Given the description of an element on the screen output the (x, y) to click on. 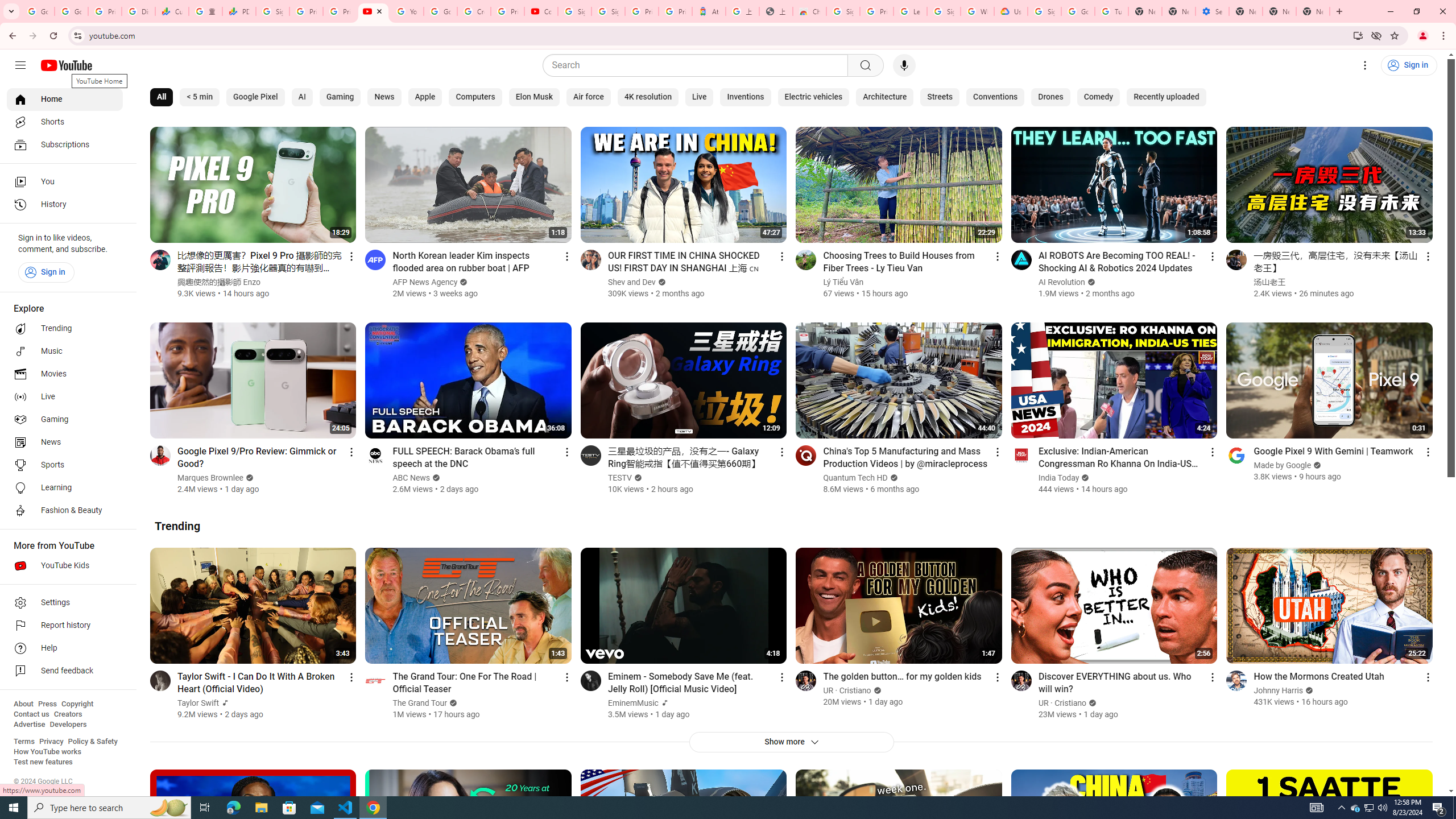
Turn cookies on or off - Computer - Google Account Help (1111, 11)
Atour Hotel - Google hotels (708, 11)
Gaming (64, 419)
Learning (64, 487)
Currencies - Google Finance (171, 11)
YouTube (406, 11)
AFP News Agency (425, 282)
Official Artist Channel (663, 702)
